Given the description of an element on the screen output the (x, y) to click on. 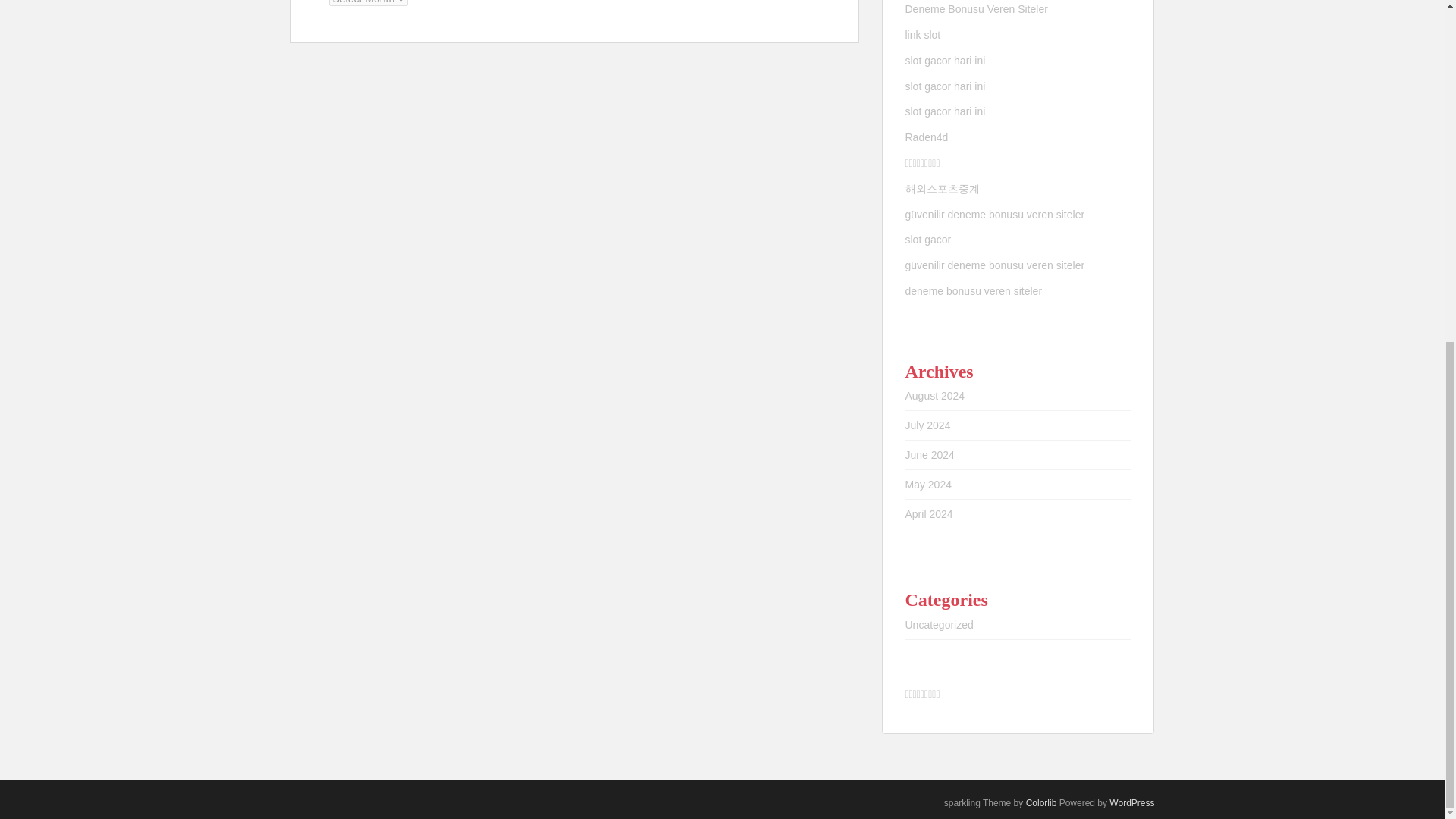
June 2024 (930, 454)
Raden4d (927, 137)
August 2024 (935, 395)
July 2024 (927, 425)
Uncategorized (939, 624)
slot gacor (928, 239)
Deneme Bonusu Veren Siteler (976, 9)
slot gacor hari ini (945, 86)
May 2024 (928, 484)
WordPress (1131, 802)
